Given the description of an element on the screen output the (x, y) to click on. 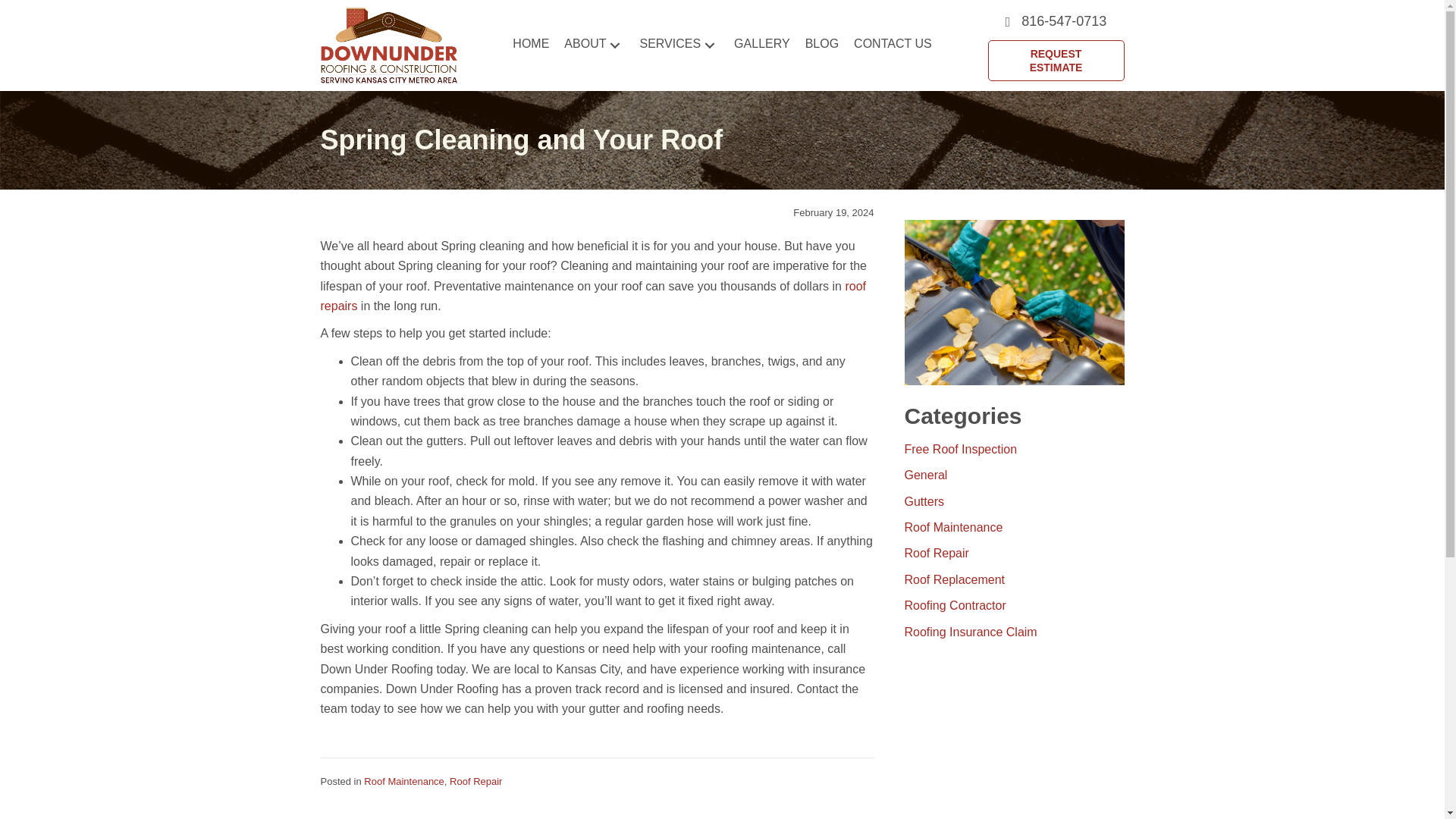
General (925, 474)
Roofing Contractor (955, 604)
Roof Maintenance (404, 781)
Roofing Insurance Claim (970, 631)
Roof Replacement (954, 579)
roof repairs (593, 296)
ABOUT (593, 45)
SERVICES (678, 45)
Free Roof Inspection (960, 449)
Gutters (923, 501)
